Given the description of an element on the screen output the (x, y) to click on. 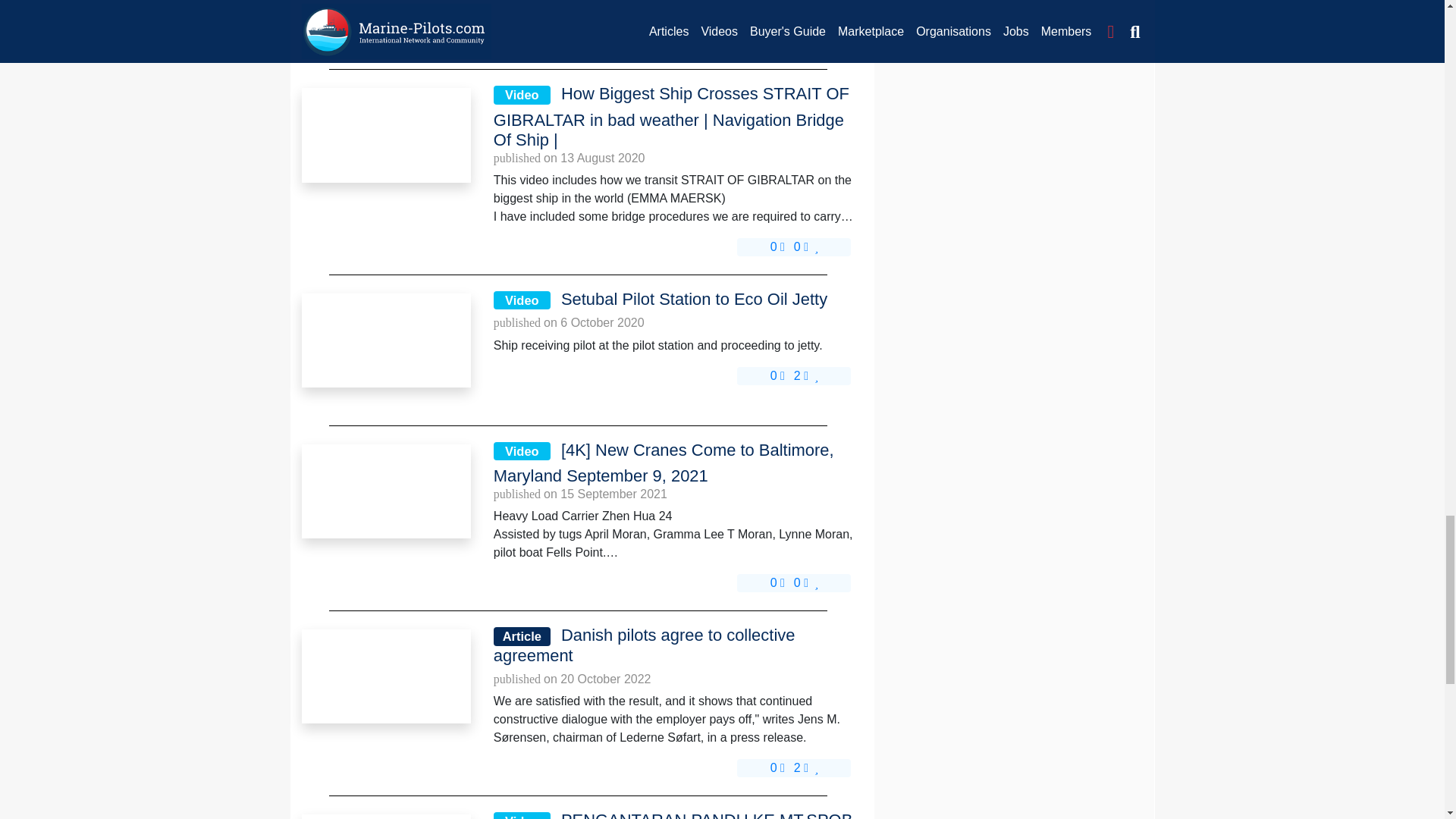
Setubal Pilot Station to Eco Oil Jetty (385, 340)
Danish pilots agree to collective agreement (385, 675)
Danish pilots agree to collective agreement (385, 676)
Origins of the IMPA pilot mark  (385, 1)
Danish pilots agree to collective agreement (674, 645)
